Given the description of an element on the screen output the (x, y) to click on. 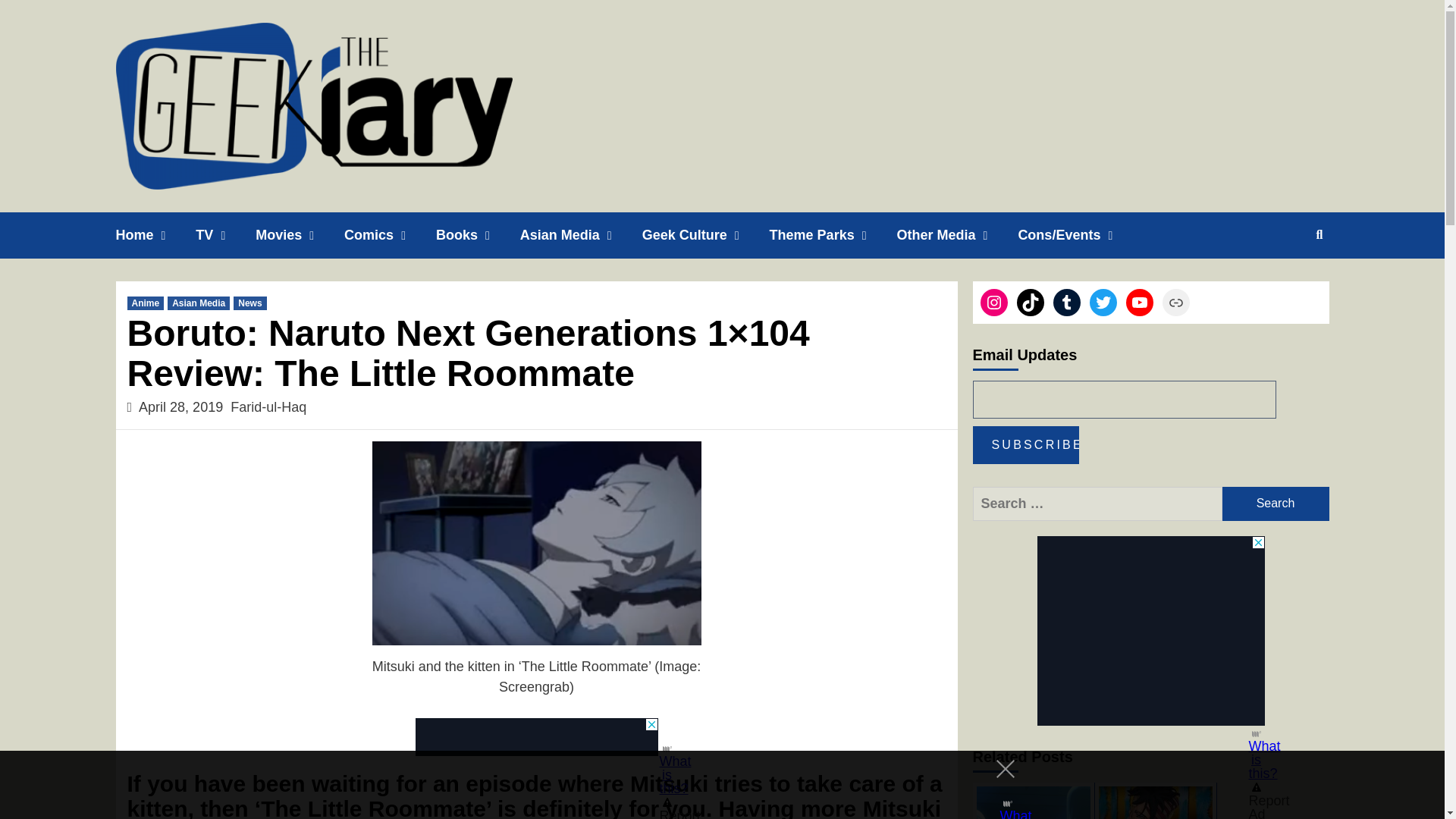
3rd party ad content (708, 785)
Search (1276, 503)
Subscribe (1025, 444)
Search (1276, 503)
3rd party ad content (536, 736)
TV (225, 235)
Home (155, 235)
Geek Culture (706, 235)
3rd party ad content (1150, 630)
Comics (389, 235)
Movies (299, 235)
Books (477, 235)
Asian Media (580, 235)
